Given the description of an element on the screen output the (x, y) to click on. 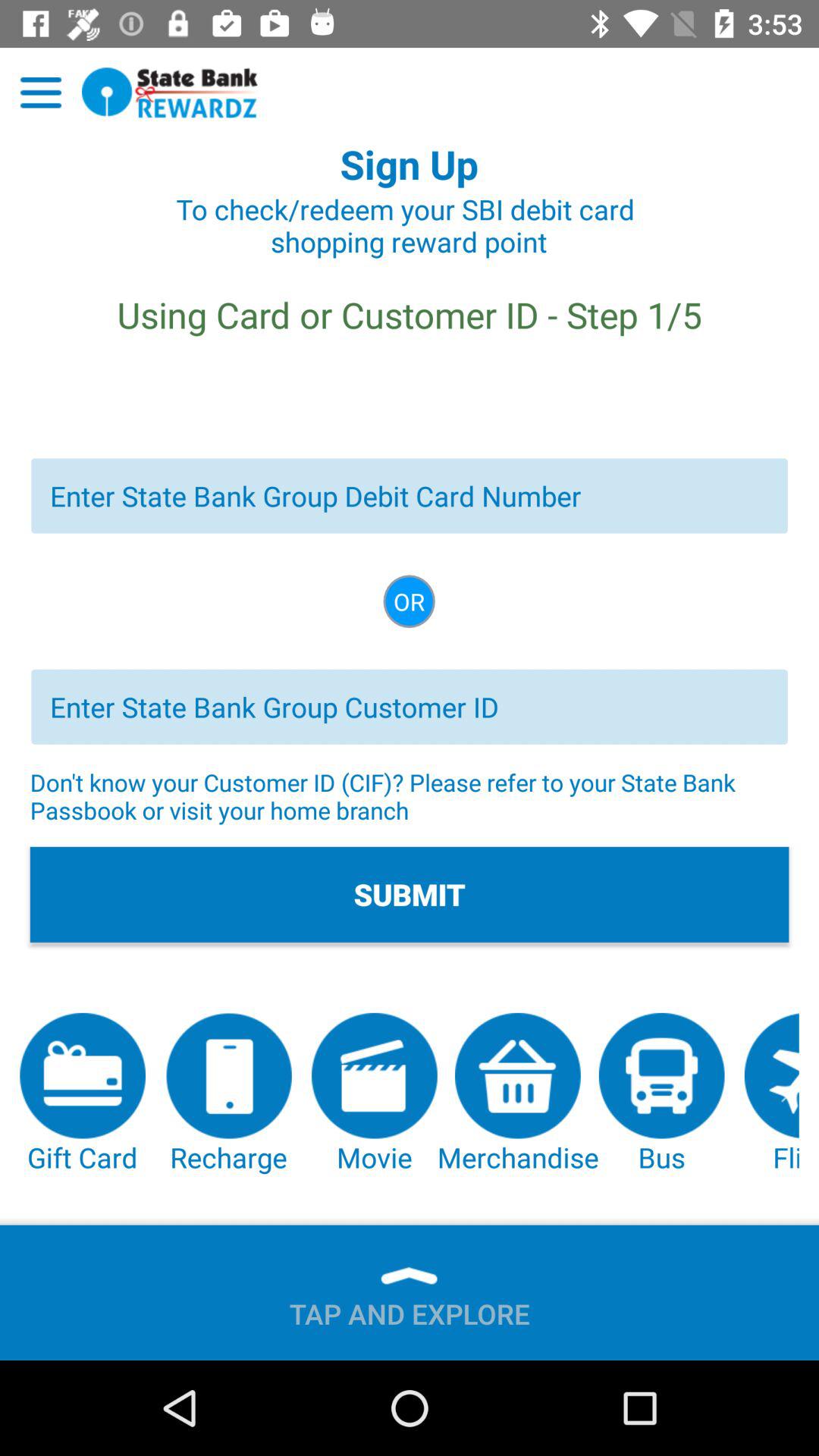
press icon to the left of merchandise app (374, 1094)
